Given the description of an element on the screen output the (x, y) to click on. 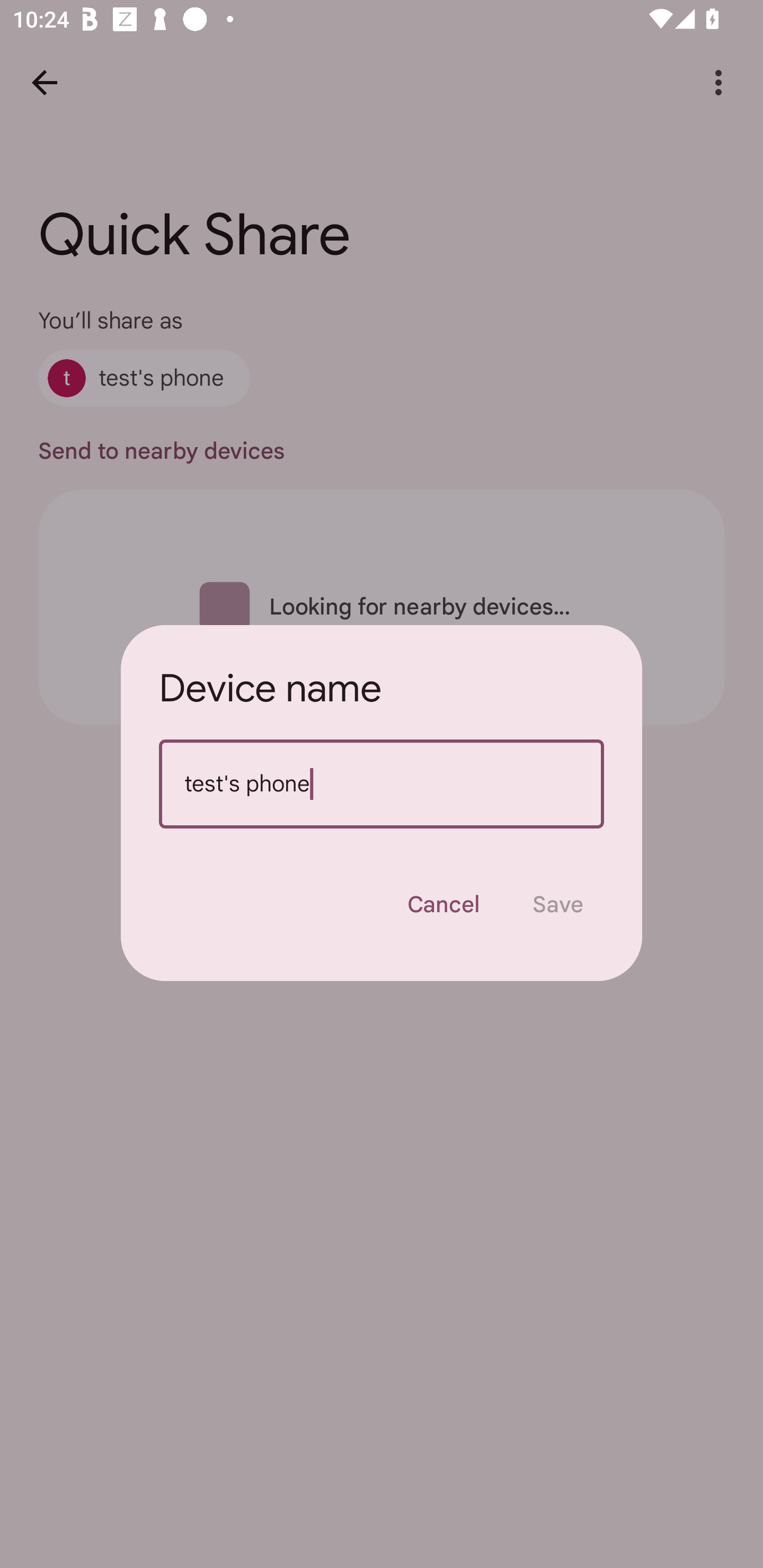
test's phone Device name (381, 783)
Cancel (443, 904)
Save (557, 904)
